Given the description of an element on the screen output the (x, y) to click on. 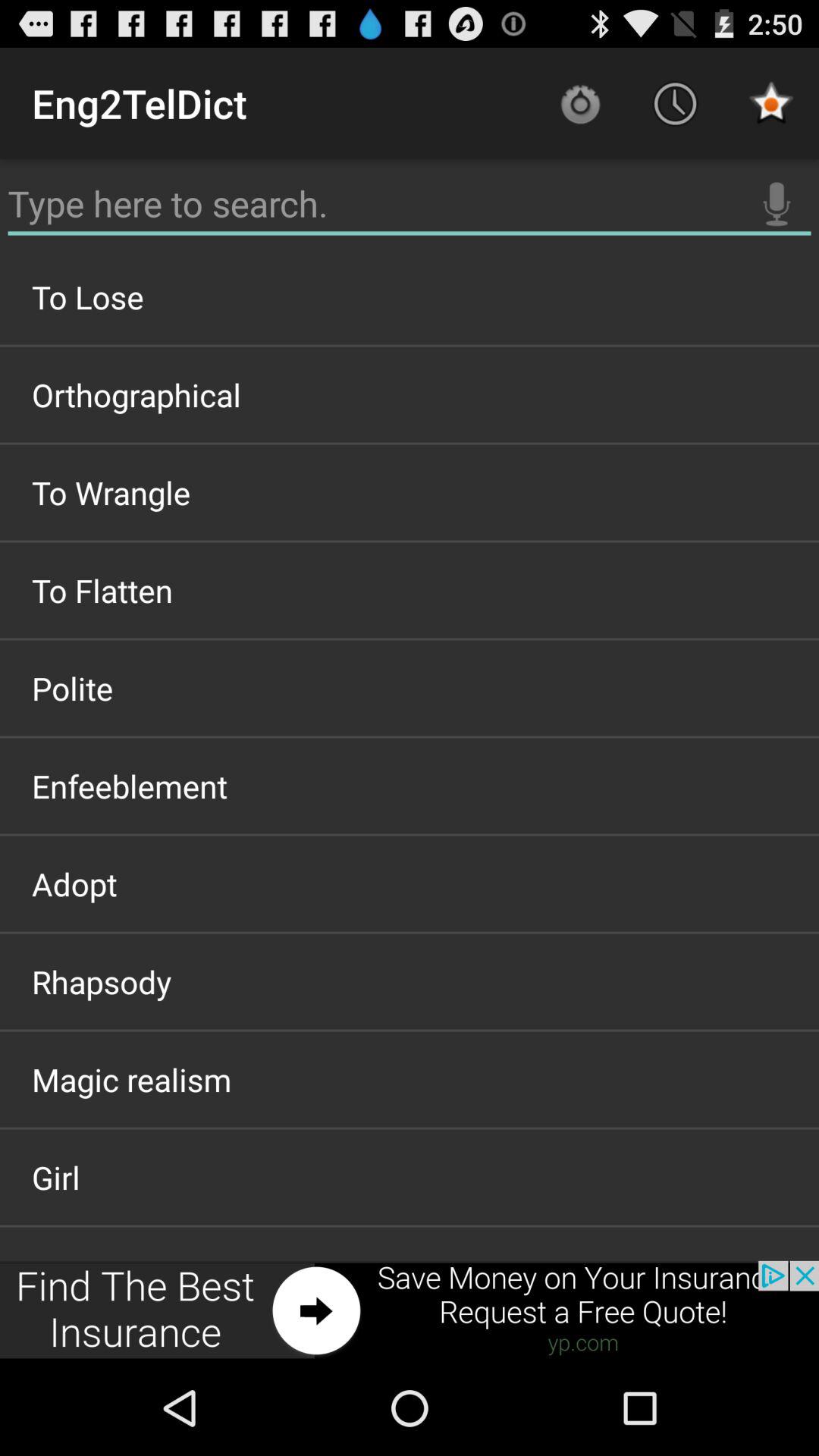
mircophone to learn more (776, 204)
